Given the description of an element on the screen output the (x, y) to click on. 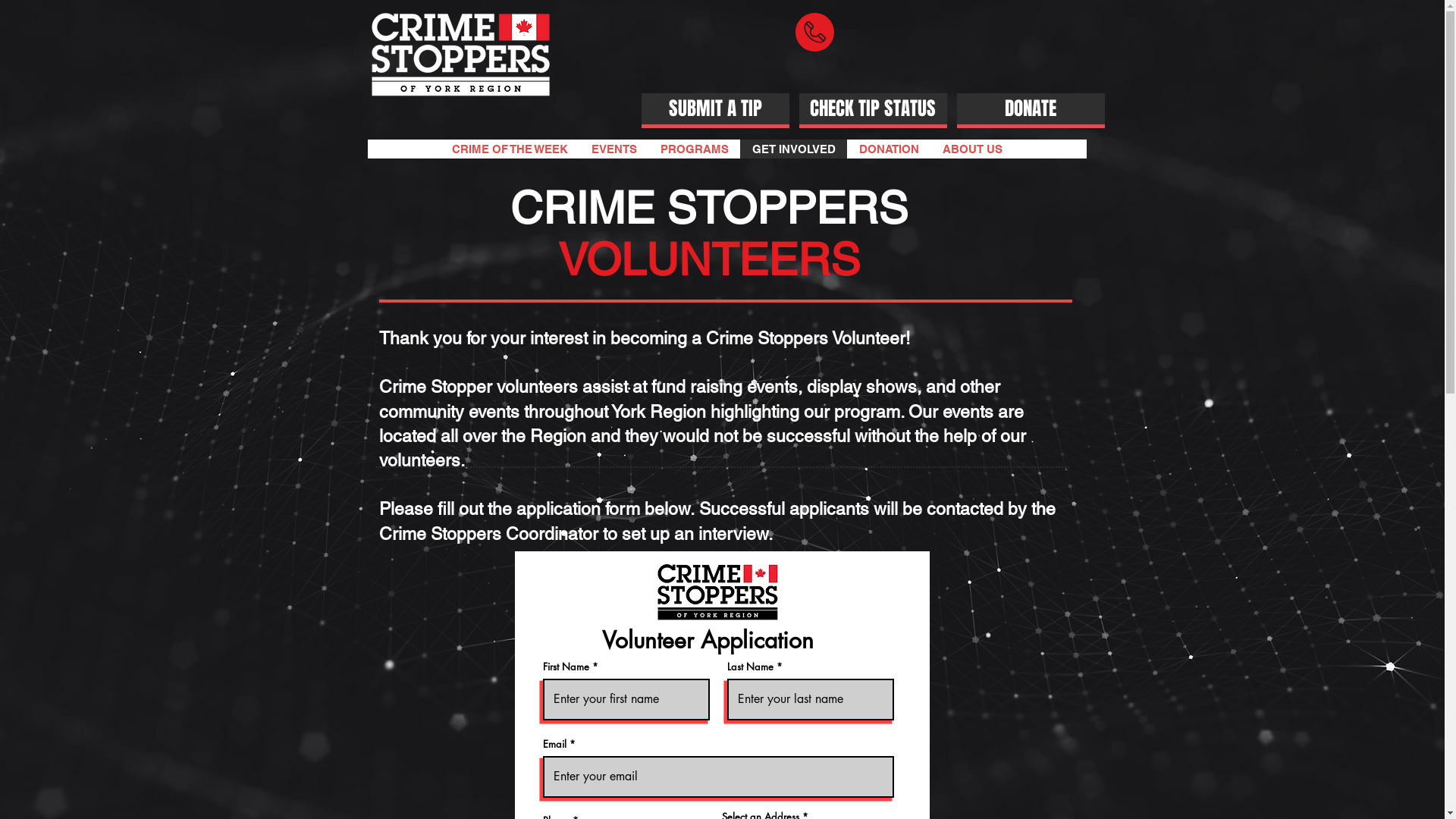
EVENTS Element type: text (613, 148)
ABOUT US Element type: text (971, 148)
DONATION Element type: text (888, 148)
DONATE Element type: text (1030, 108)
CRIME OF THE WEEK Element type: text (509, 148)
GET INVOLVED Element type: text (793, 148)
SUBMIT A TIP Element type: text (715, 108)
CHECK TIP STATUS Element type: text (873, 108)
Crime Stopper of York Logo - White.png Element type: hover (459, 54)
PROGRAMS Element type: text (694, 148)
